Given the description of an element on the screen output the (x, y) to click on. 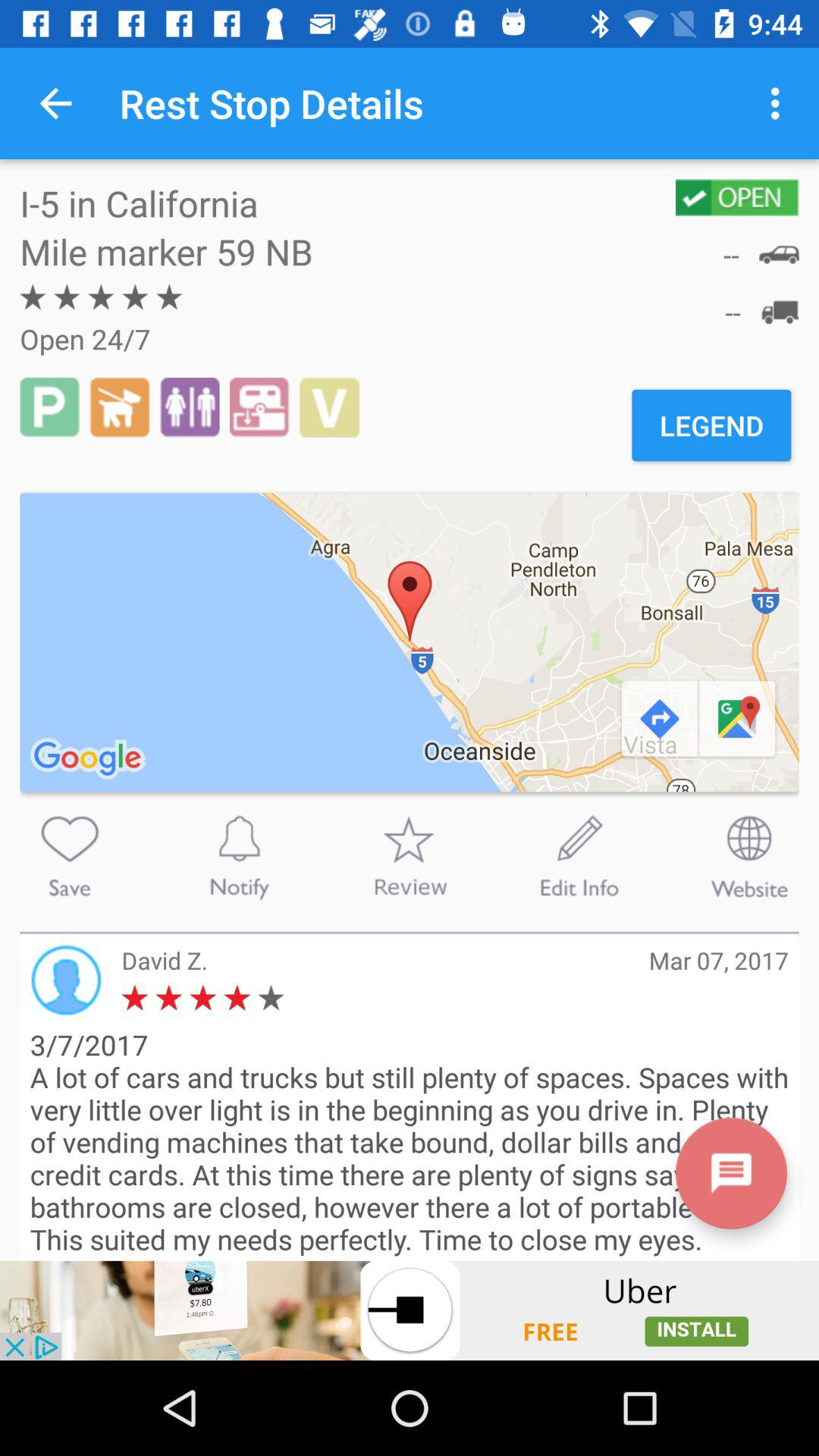
the button is used save button (69, 856)
